Given the description of an element on the screen output the (x, y) to click on. 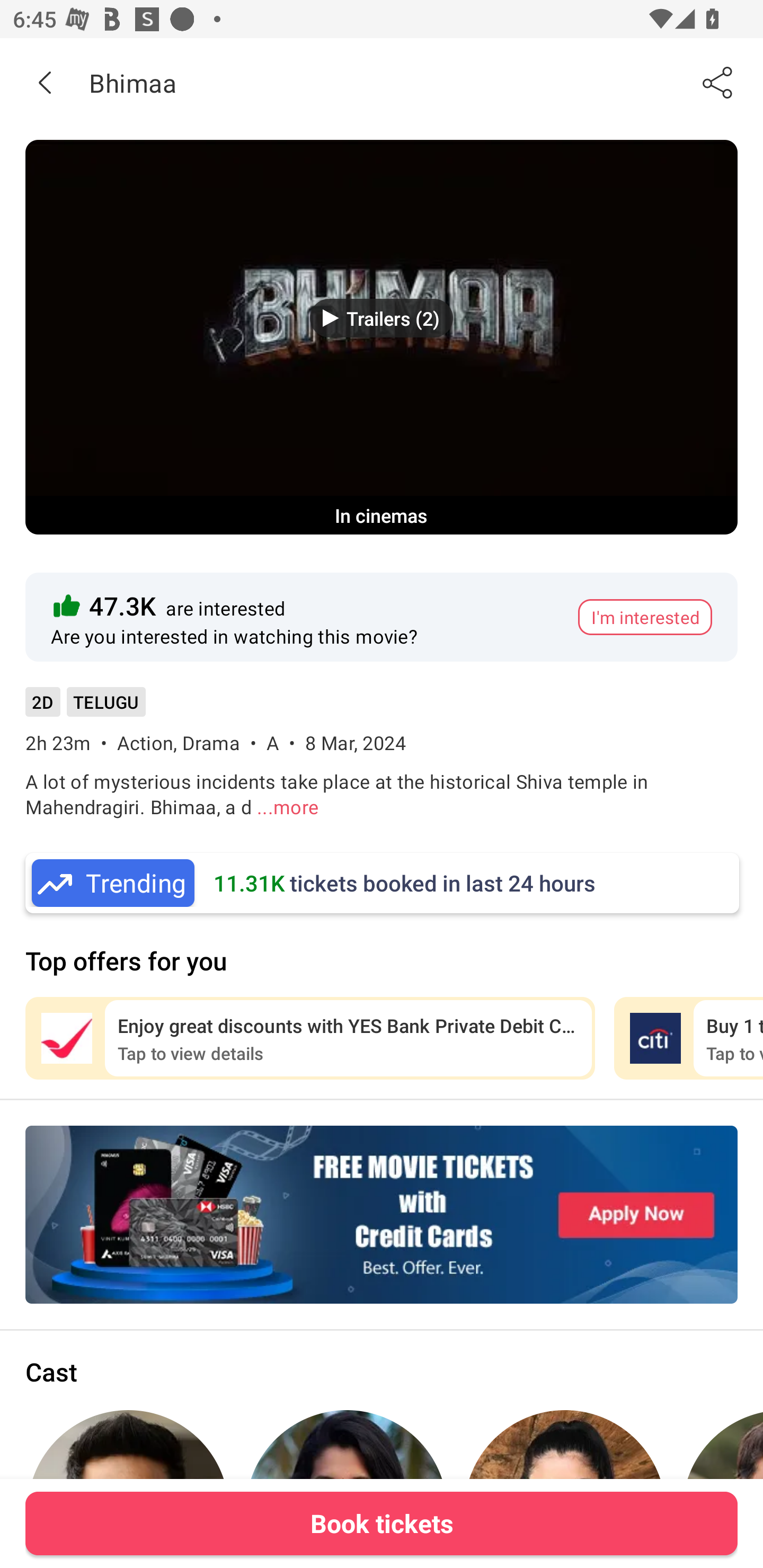
Back (44, 82)
Share (718, 82)
Movie Banner Trailers (2) In cinemas (381, 336)
Trailers (2) (381, 318)
I'm interested (644, 616)
2D TELUGU (85, 707)
Book tickets (381, 1523)
